Given the description of an element on the screen output the (x, y) to click on. 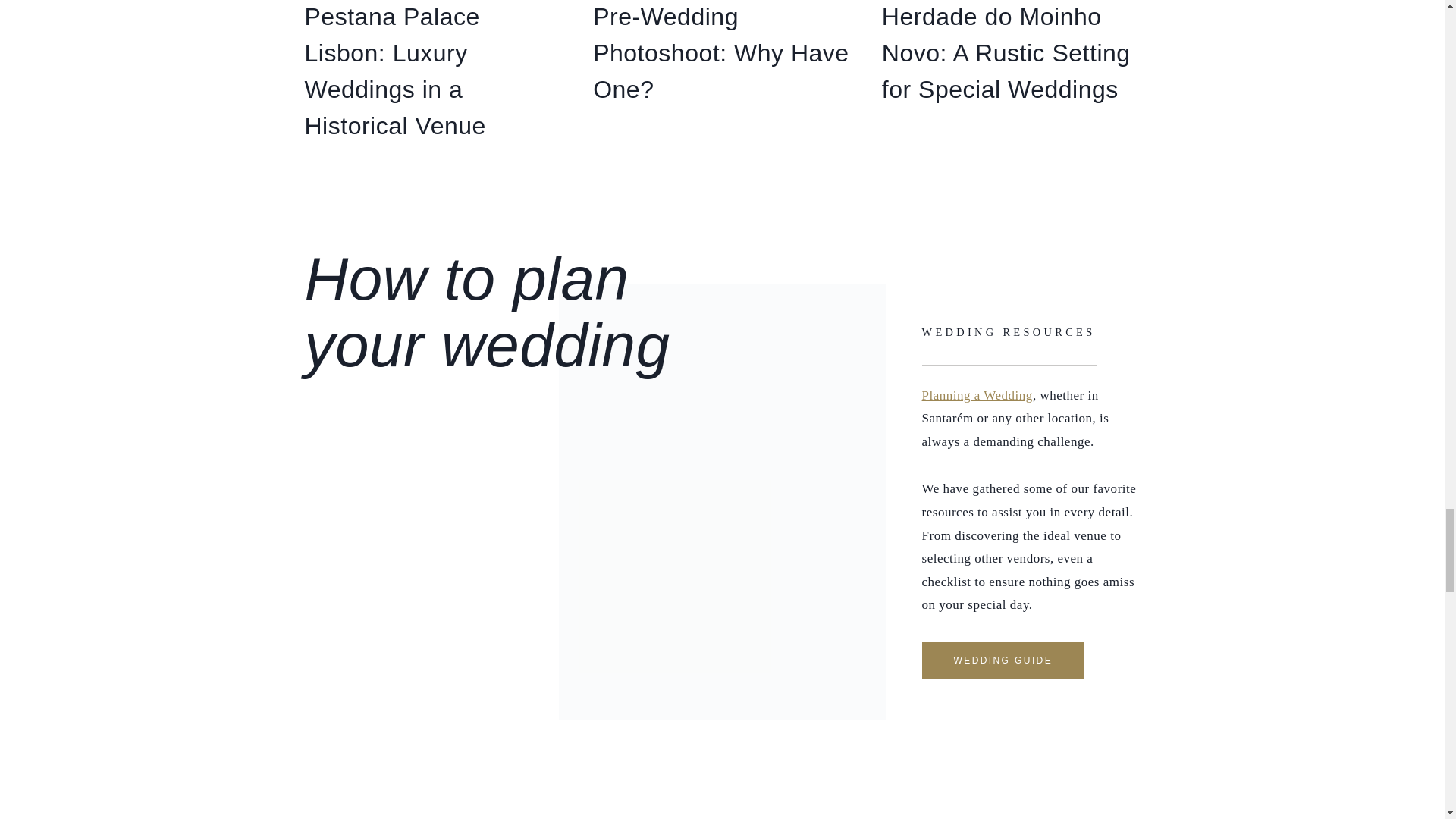
Planning a Wedding (976, 395)
Pestana Palace Lisbon: Luxury Weddings in a Historical Venue (395, 71)
Pre-Wedding Photoshoot: Why Have One? (720, 53)
WEDDING GUIDE (1002, 660)
